Given the description of an element on the screen output the (x, y) to click on. 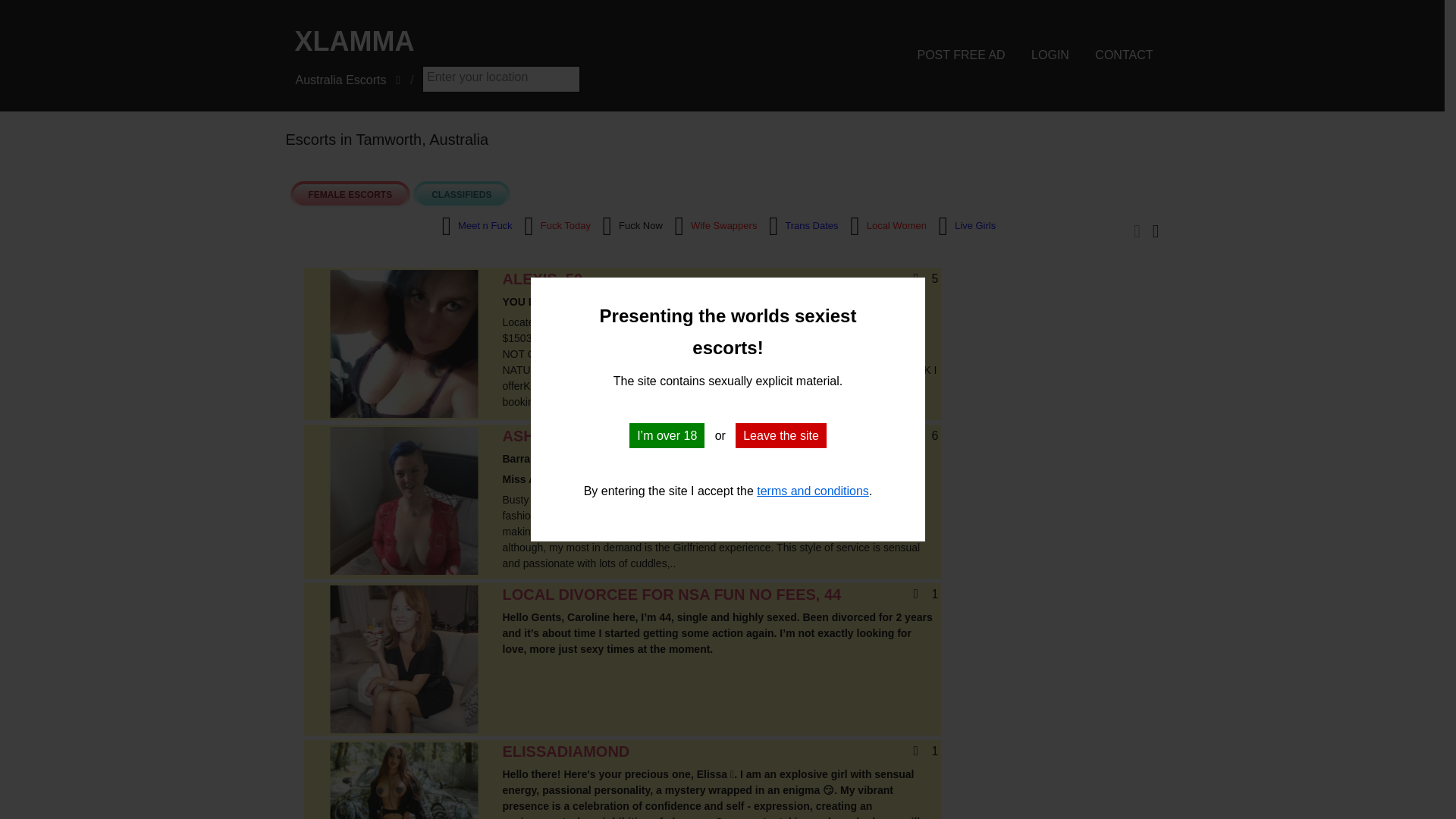
POST FREE AD (959, 55)
XLAMMA (508, 41)
terms and conditions (813, 490)
LOGIN (1050, 55)
Leave the site (781, 435)
